Given the description of an element on the screen output the (x, y) to click on. 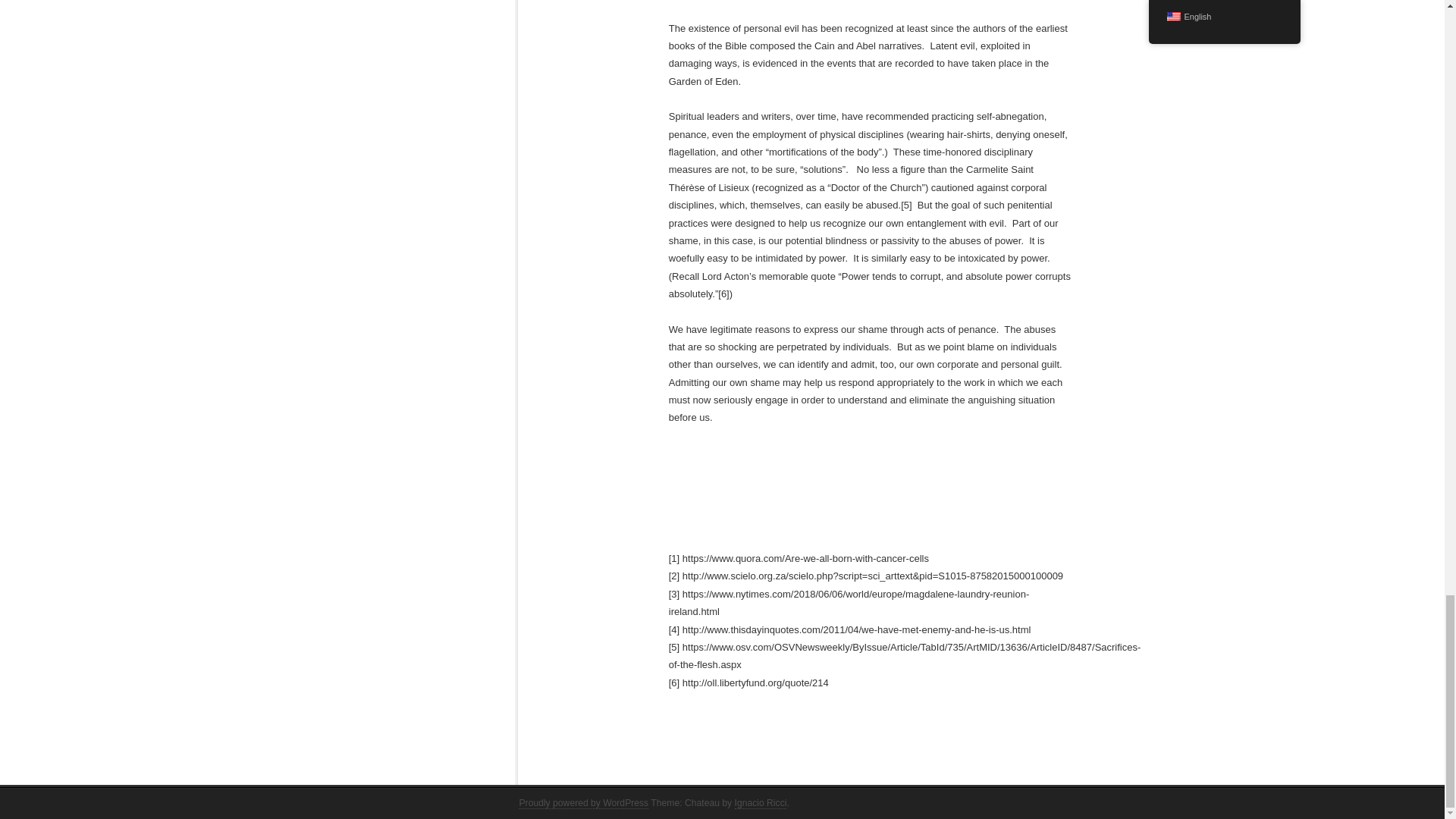
Proudly powered by WordPress (582, 803)
Ignacio Ricci (761, 803)
